Given the description of an element on the screen output the (x, y) to click on. 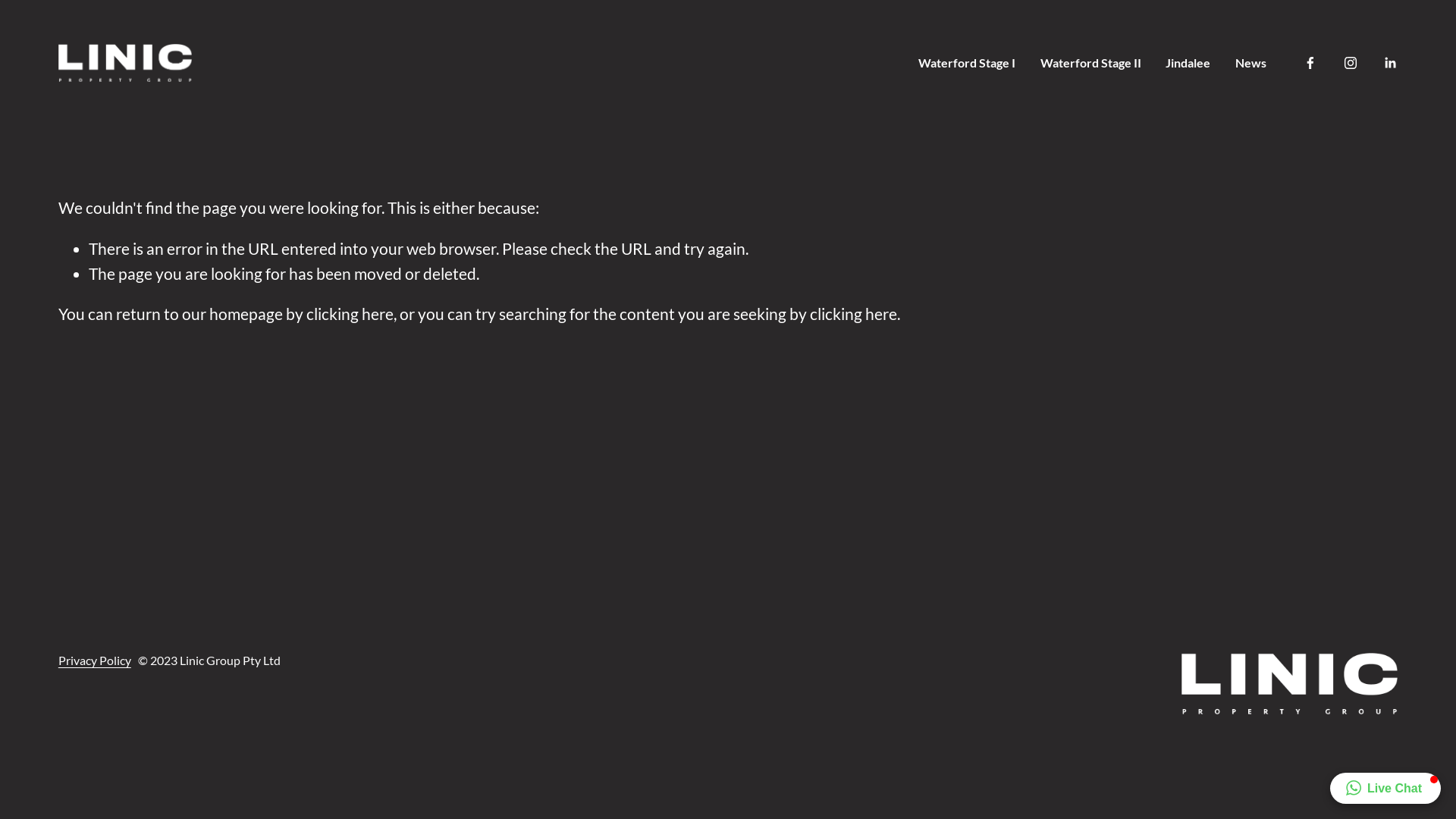
clicking here Element type: text (349, 313)
clicking here Element type: text (853, 313)
News Element type: text (1250, 62)
Live Chat Element type: text (1385, 787)
Privacy Policy Element type: text (94, 660)
Waterford Stage I Element type: text (966, 62)
Jindalee Element type: text (1187, 62)
Waterford Stage II Element type: text (1090, 62)
